Given the description of an element on the screen output the (x, y) to click on. 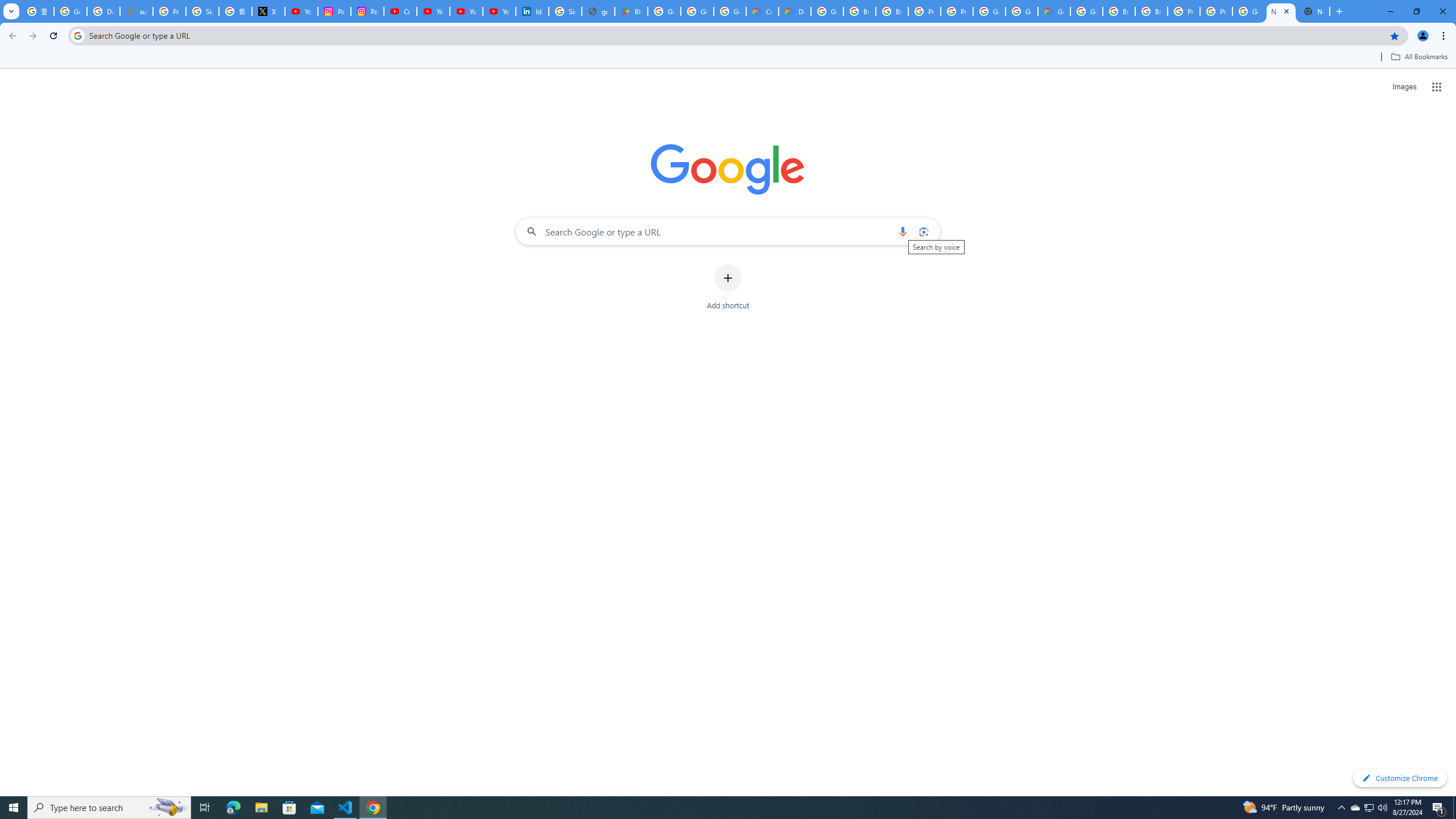
Customer Care | Google Cloud (762, 11)
Search by image (922, 230)
Search by voice (902, 230)
Search icon (77, 35)
Google Cloud Estimate Summary (1053, 11)
Privacy Help Center - Policies Help (169, 11)
Google Cloud Platform (1086, 11)
Bookmarks (728, 58)
YouTube Culture & Trends - YouTube Top 10, 2021 (465, 11)
Search Google or type a URL (727, 230)
YouTube Culture & Trends - YouTube Top 10, 2021 (499, 11)
